Given the description of an element on the screen output the (x, y) to click on. 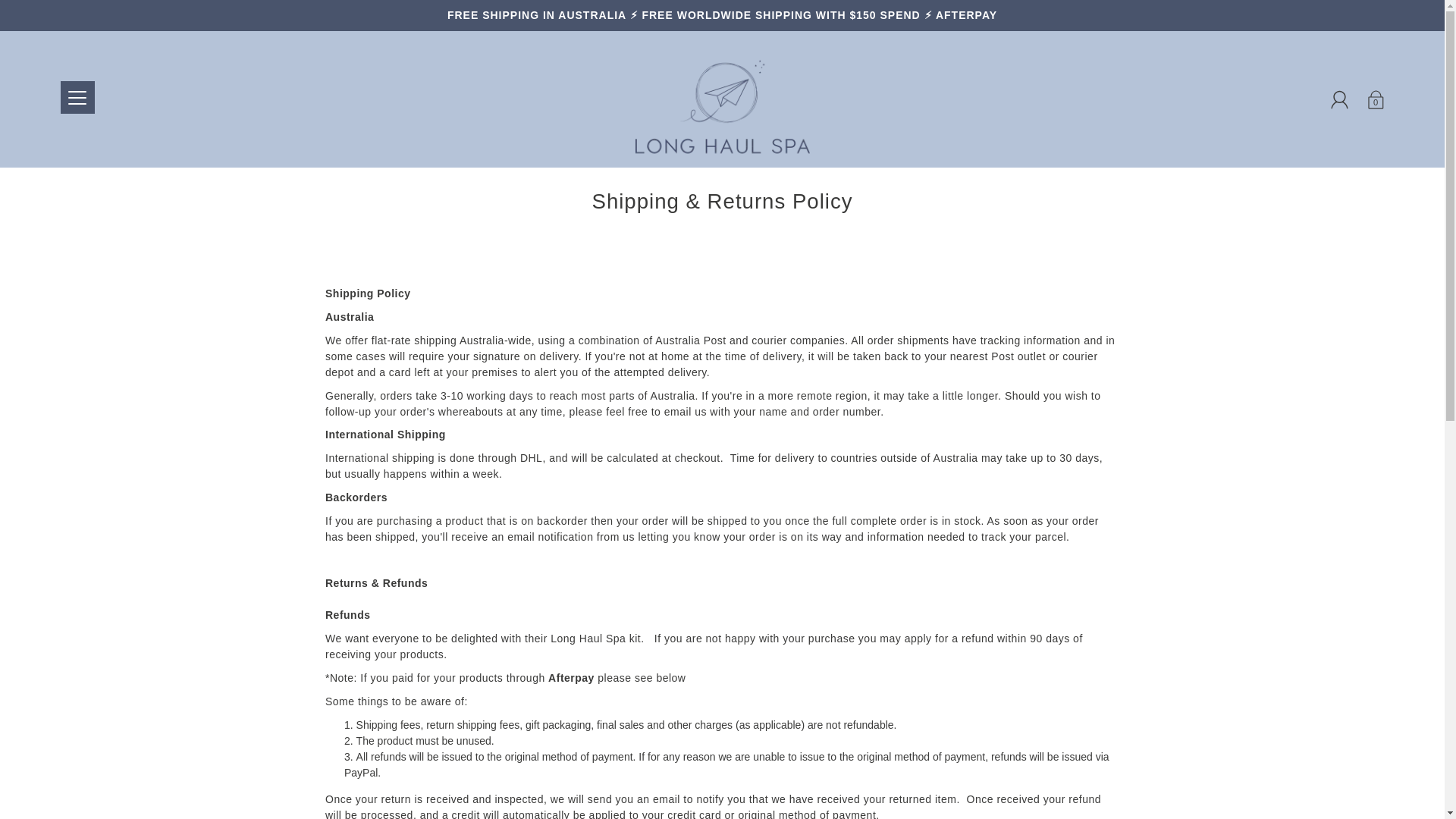
0 (1374, 98)
